Given the description of an element on the screen output the (x, y) to click on. 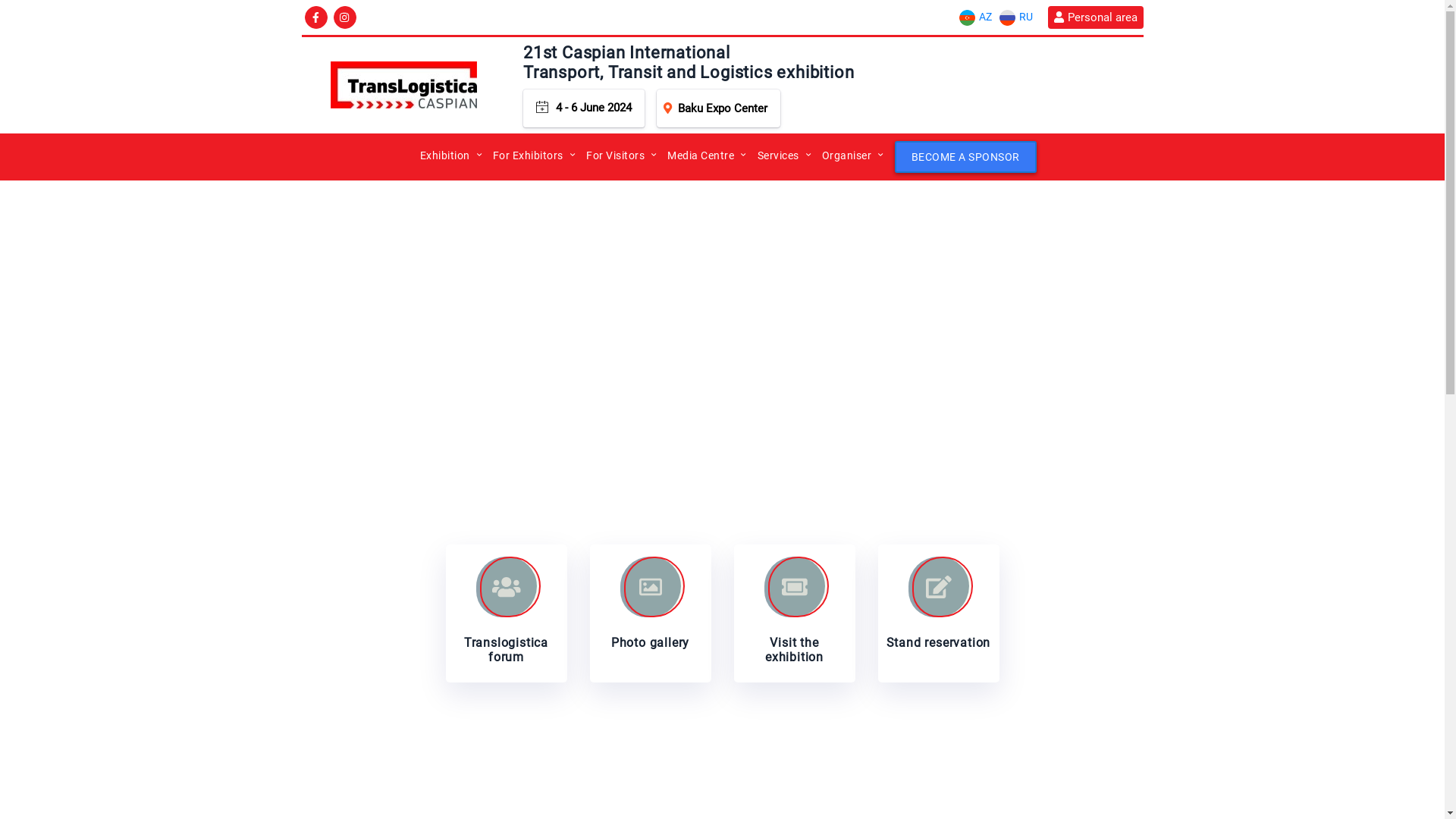
Personal area Element type: text (1095, 17)
Translogistica forum Element type: text (506, 613)
Exhibition Element type: text (445, 155)
RU Element type: text (1014, 16)
Photo gallery Element type: text (650, 613)
Organiser Element type: text (847, 155)
For Visitors Element type: text (615, 155)
Stand reservation Element type: text (938, 613)
Services Element type: text (777, 155)
BECOME A SPONSOR Element type: text (965, 156)
Media Centre Element type: text (700, 155)
Baku Expo Center Element type: text (718, 108)
For Exhibitors Element type: text (527, 155)
AZ Element type: text (974, 16)
Visit the exhibition Element type: text (794, 613)
